Given the description of an element on the screen output the (x, y) to click on. 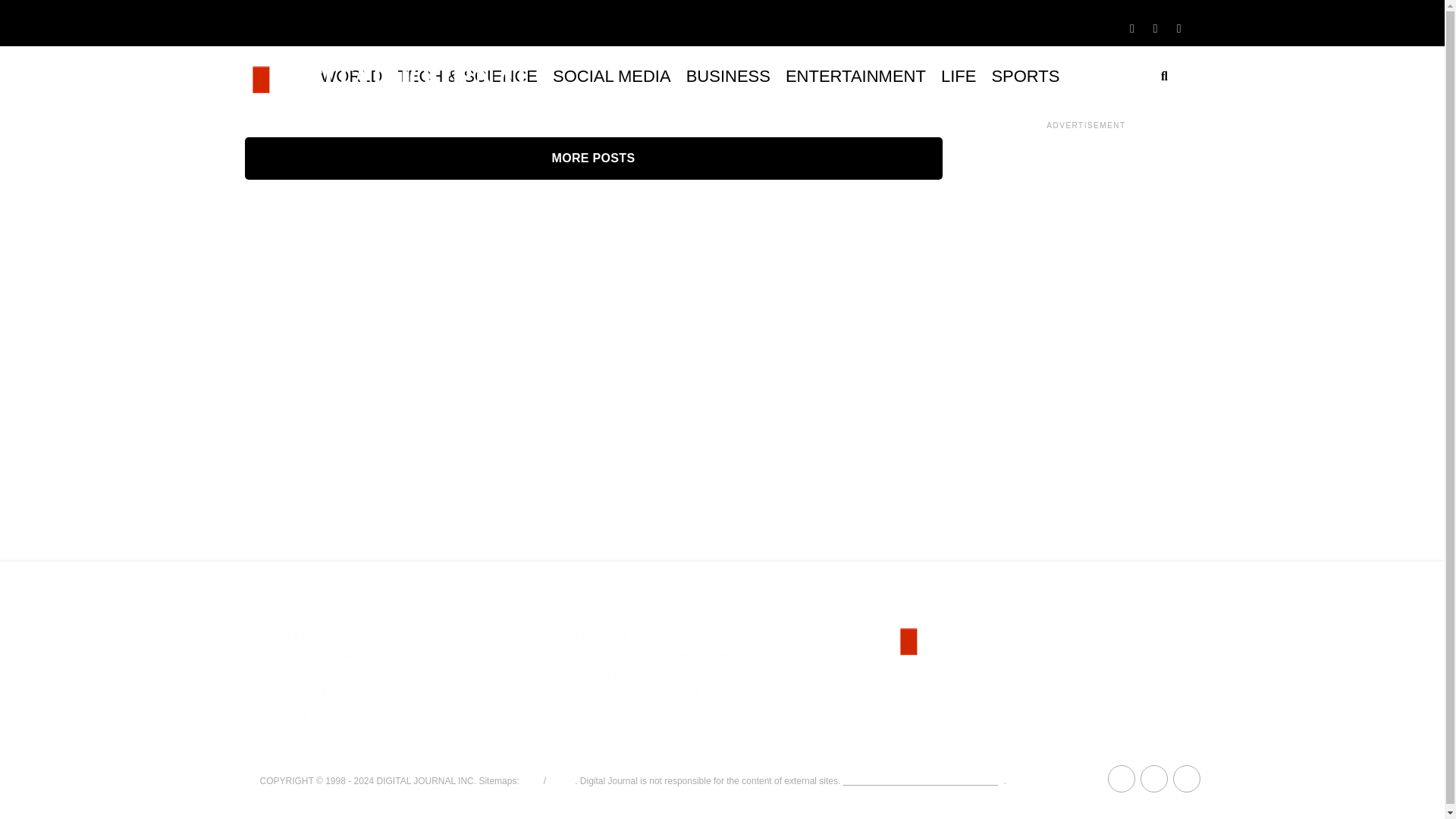
SPORTS (1025, 76)
LIFE (958, 76)
XML (530, 779)
NEWS PARTNER: AFP (638, 675)
BUSINESS (727, 76)
ALL PRESS RELEASES (641, 694)
SPONSORED CONTENT (326, 675)
ENTERTAINMENT (855, 76)
CONTACT US (295, 734)
ABOUT US (288, 635)
FEATURED: ACCESSWIRE (651, 635)
SOCIAL MEDIA (611, 76)
MORE POSTS (593, 158)
TERMS OF USE (301, 694)
INSIGHT FORUM (304, 655)
